Given the description of an element on the screen output the (x, y) to click on. 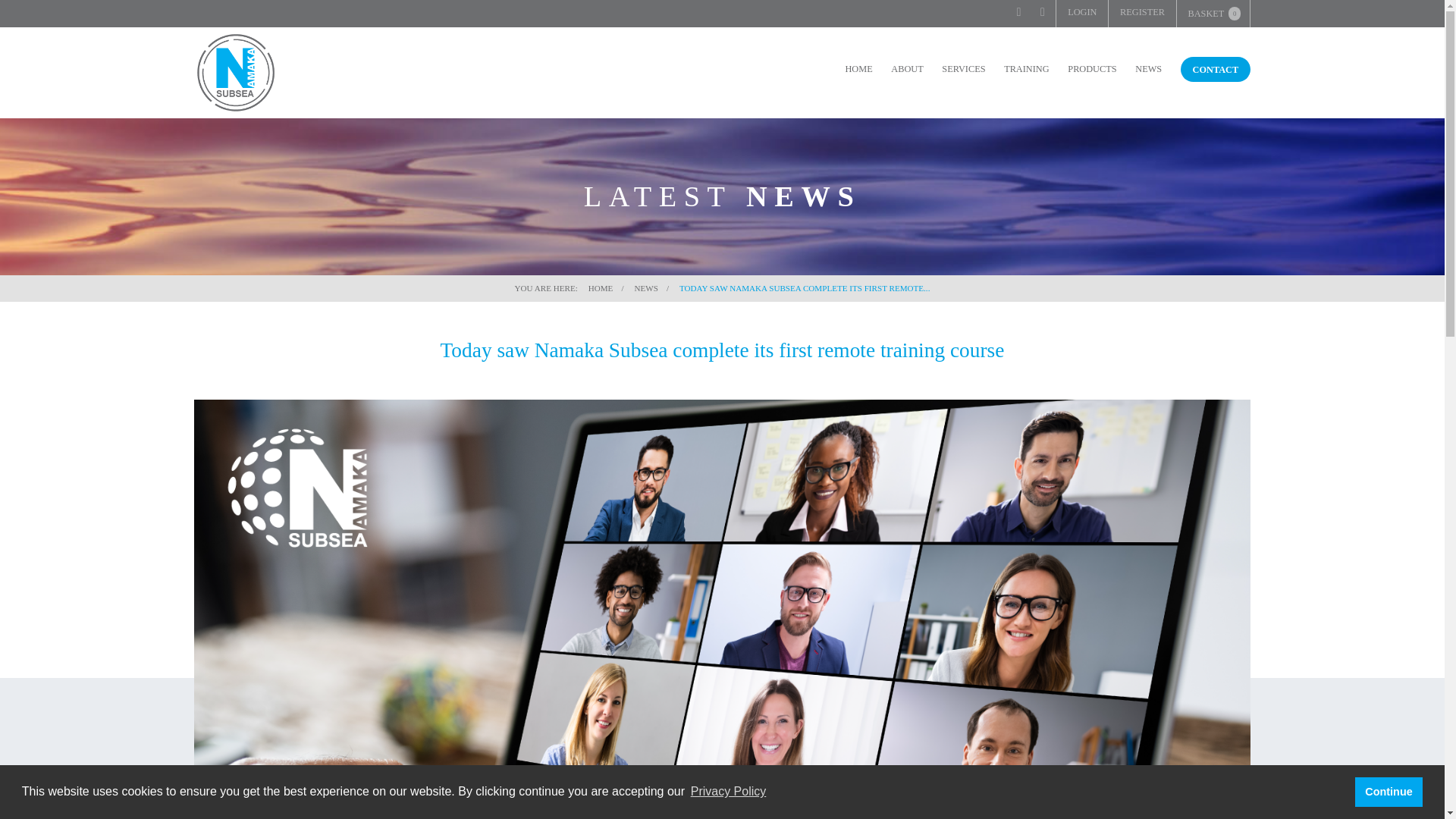
Namaka Subsea logo (235, 72)
ABOUT (907, 69)
LOGIN (1082, 13)
BASKET 0 (1212, 13)
PRODUCTS (1091, 69)
TRAINING (1026, 69)
NEWS (1148, 69)
CONTACT (1215, 69)
Privacy Policy (728, 791)
SERVICES (963, 69)
Continue (1388, 791)
HOME (858, 69)
REGISTER (1141, 13)
